Given the description of an element on the screen output the (x, y) to click on. 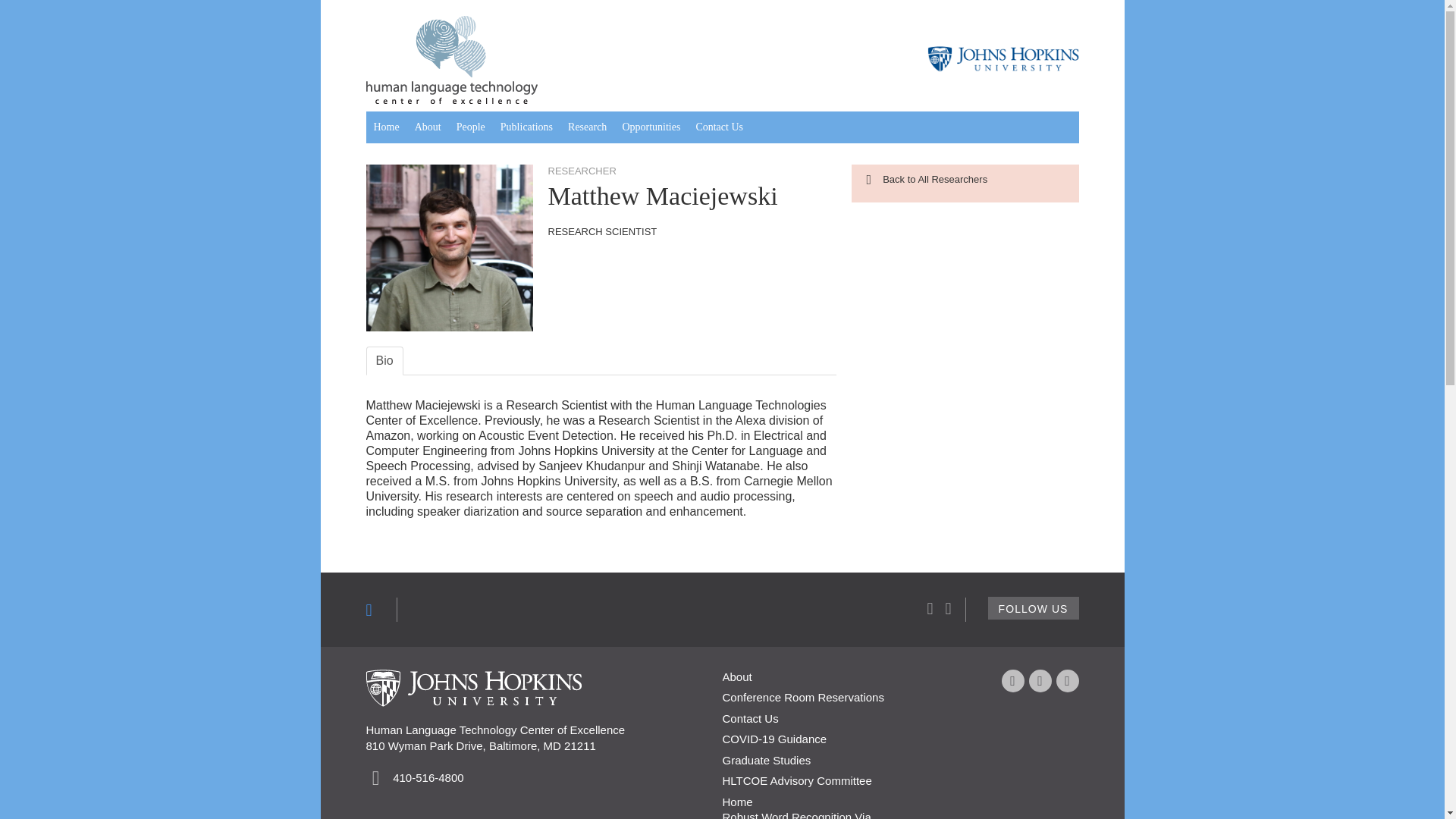
Twitter (1039, 680)
FOLLOW US (1033, 608)
People (470, 127)
Research (587, 127)
Home (385, 127)
Contact Us (719, 127)
Back to All Researchers (926, 179)
Opportunities (650, 127)
Publications (526, 127)
Facebook (1012, 680)
